Given the description of an element on the screen output the (x, y) to click on. 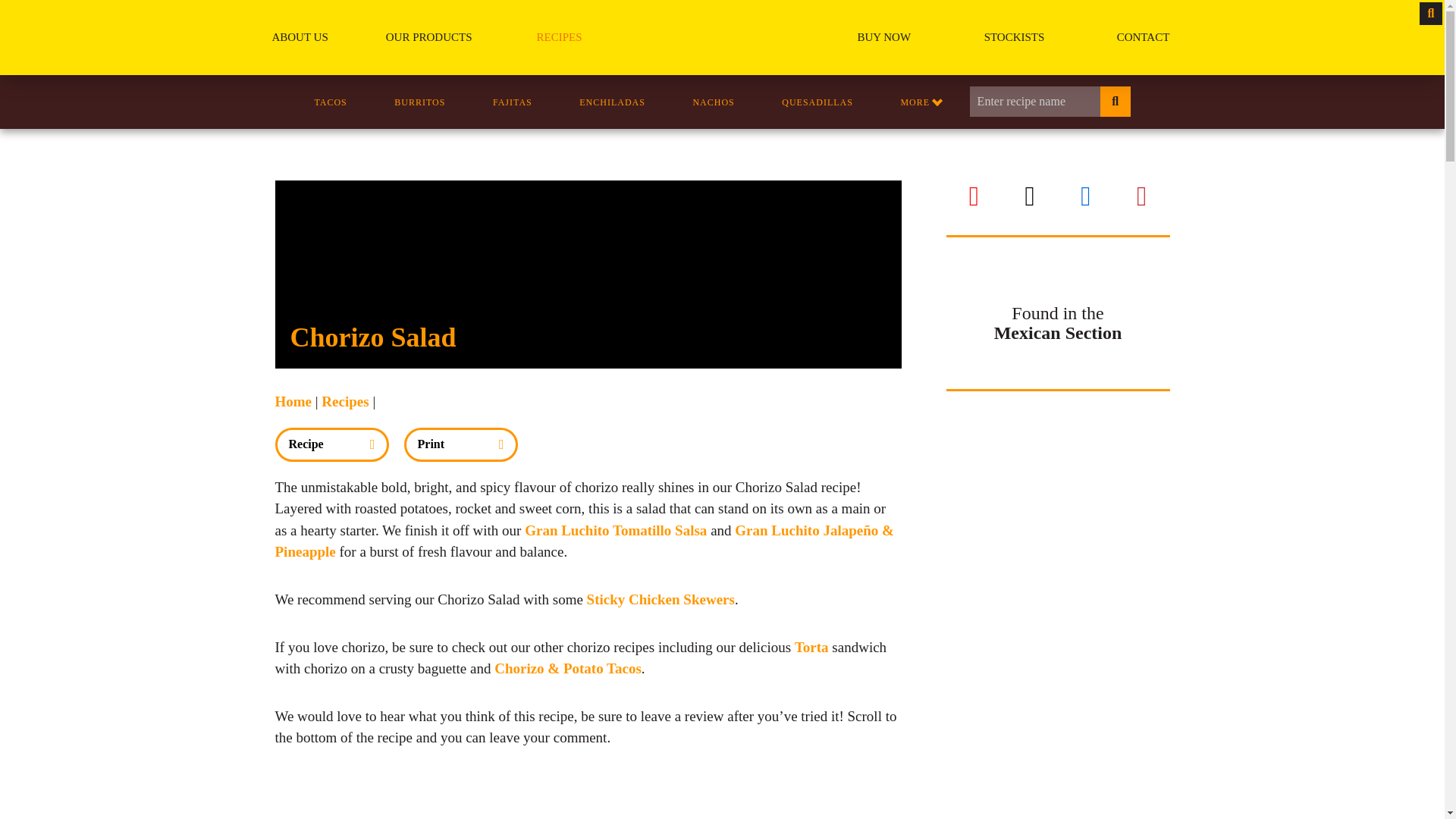
Search (11, 11)
